Given the description of an element on the screen output the (x, y) to click on. 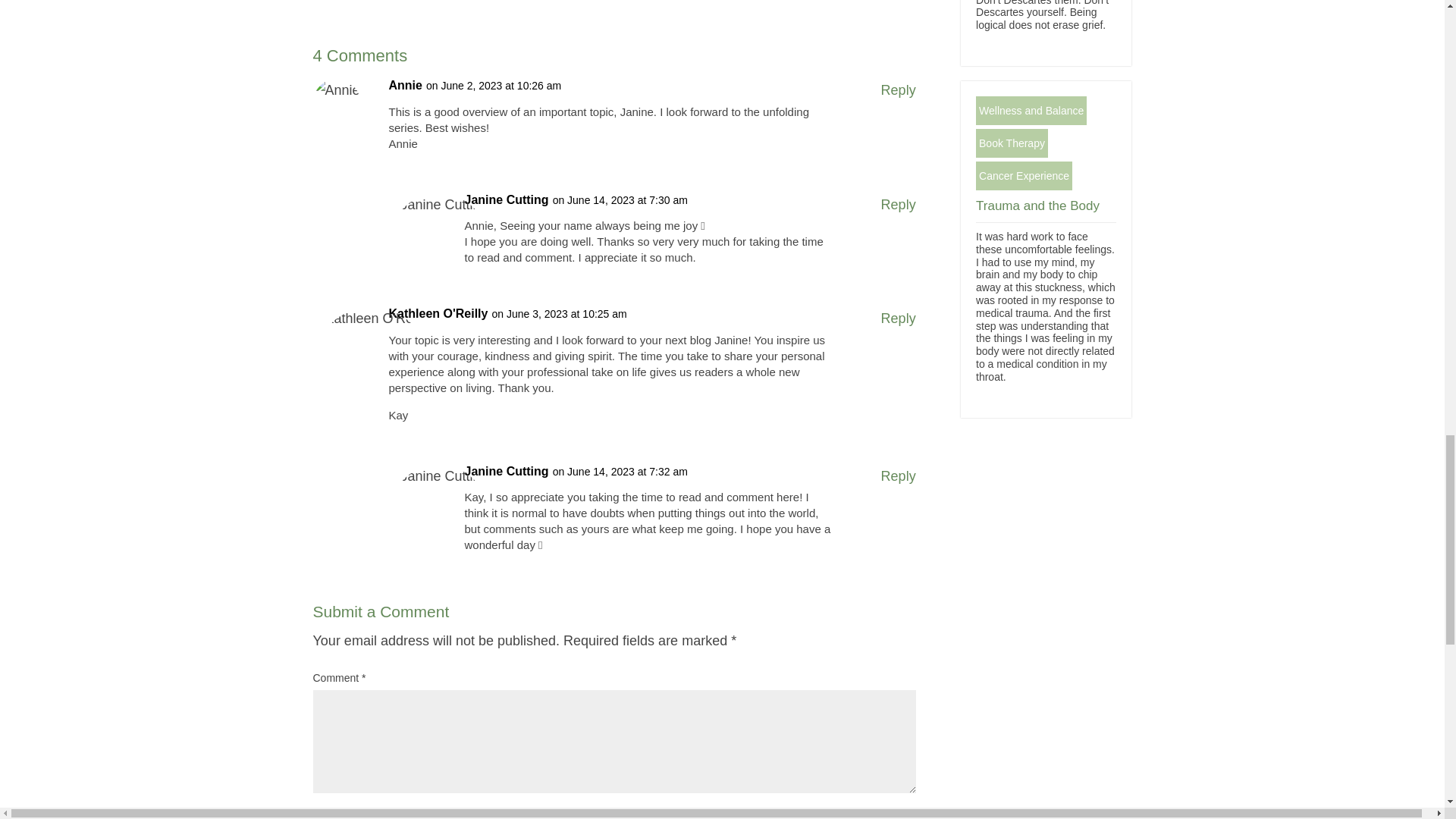
Reply (897, 205)
Book Therapy (1011, 143)
Reply (897, 90)
Annie (405, 85)
Wellness and Balance (1030, 110)
Reply (897, 476)
Trauma and the Body (1037, 205)
Cancer Experience (1023, 175)
Reply (897, 318)
